Given the description of an element on the screen output the (x, y) to click on. 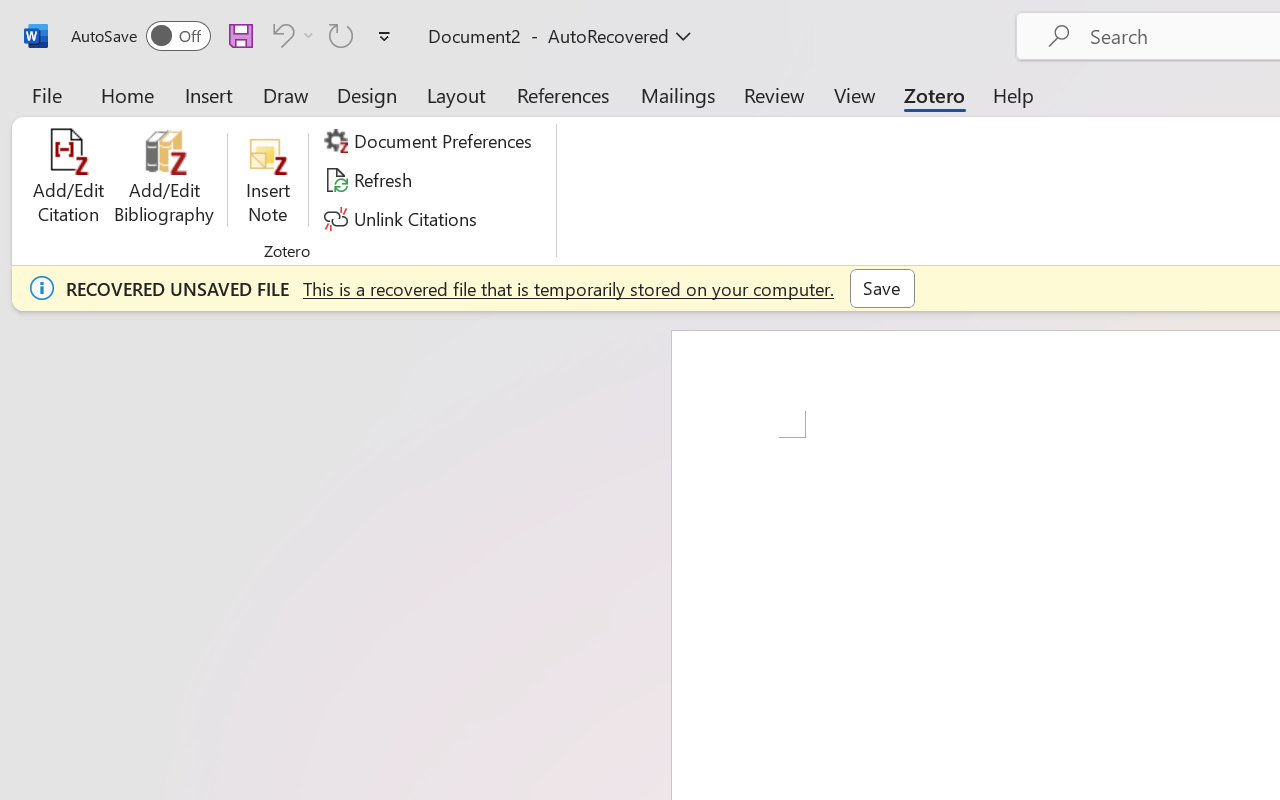
Unlink Citations (403, 218)
Can't Undo (290, 35)
Add/Edit Citation (68, 179)
Can't Repeat (341, 35)
Refresh (370, 179)
Can't Undo (280, 35)
Add/Edit Bibliography (164, 179)
